Given the description of an element on the screen output the (x, y) to click on. 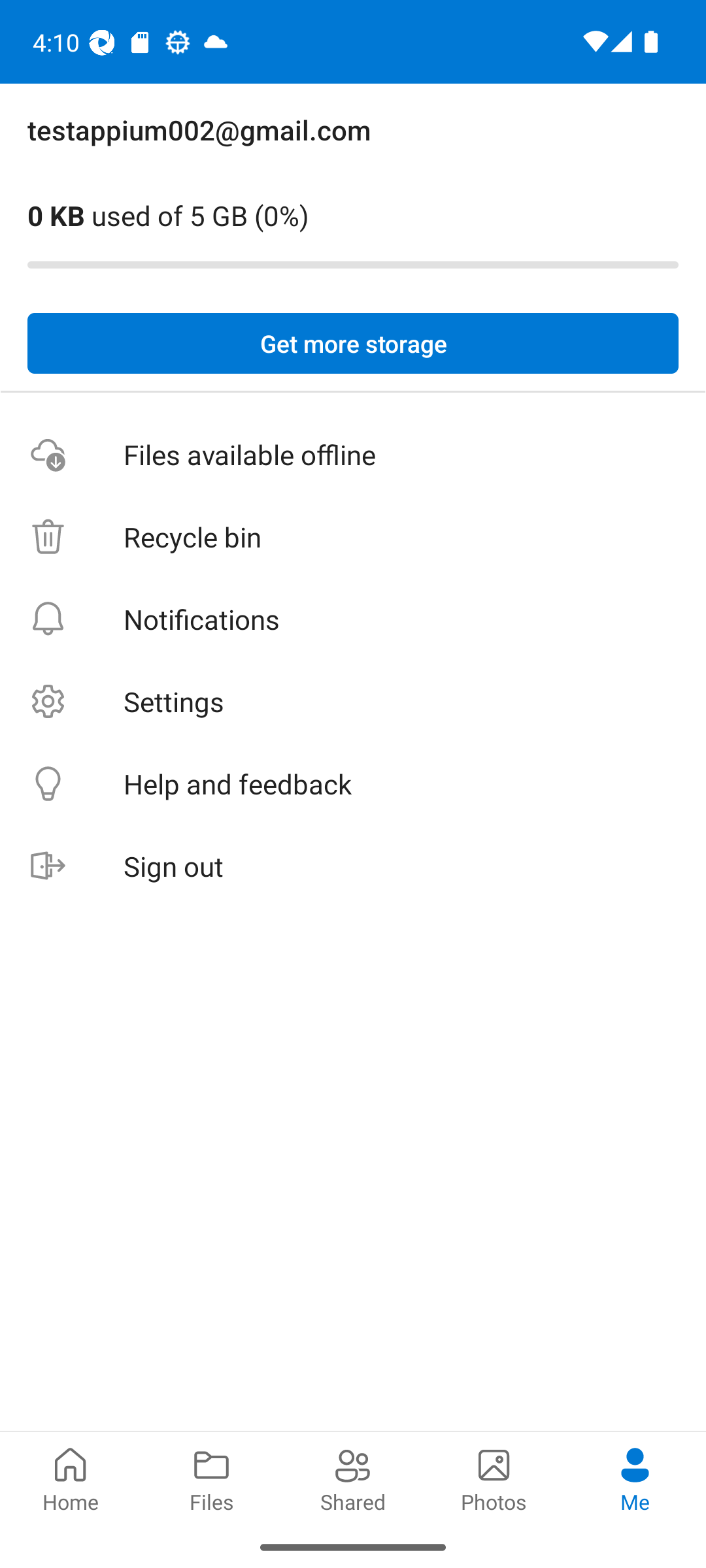
Get more storage (352, 343)
Files available offline (353, 454)
Recycle bin (353, 536)
Notifications (353, 619)
Settings (353, 701)
Help and feedback (353, 783)
Sign out (353, 865)
Home pivot Home (70, 1478)
Files pivot Files (211, 1478)
Shared pivot Shared (352, 1478)
Photos pivot Photos (493, 1478)
